Given the description of an element on the screen output the (x, y) to click on. 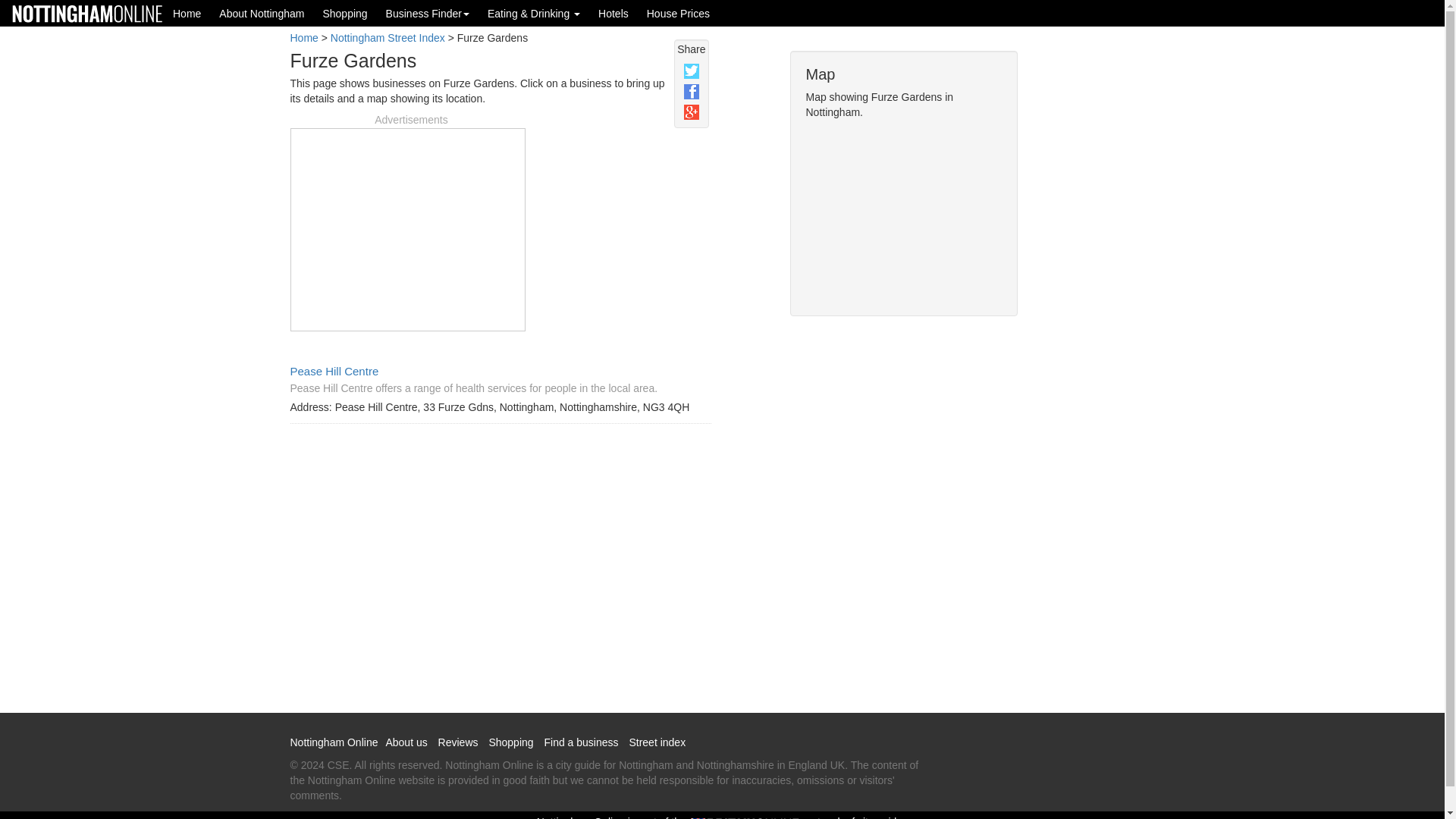
House Prices (678, 12)
Home (303, 37)
Home (186, 12)
Shopping (344, 12)
Advertisement (407, 227)
Pease Hill Centre (333, 370)
Advertisement (1091, 296)
Business Finder (428, 12)
Hotels (613, 12)
About Nottingham (261, 12)
Nottingham Street Index (387, 37)
